Given the description of an element on the screen output the (x, y) to click on. 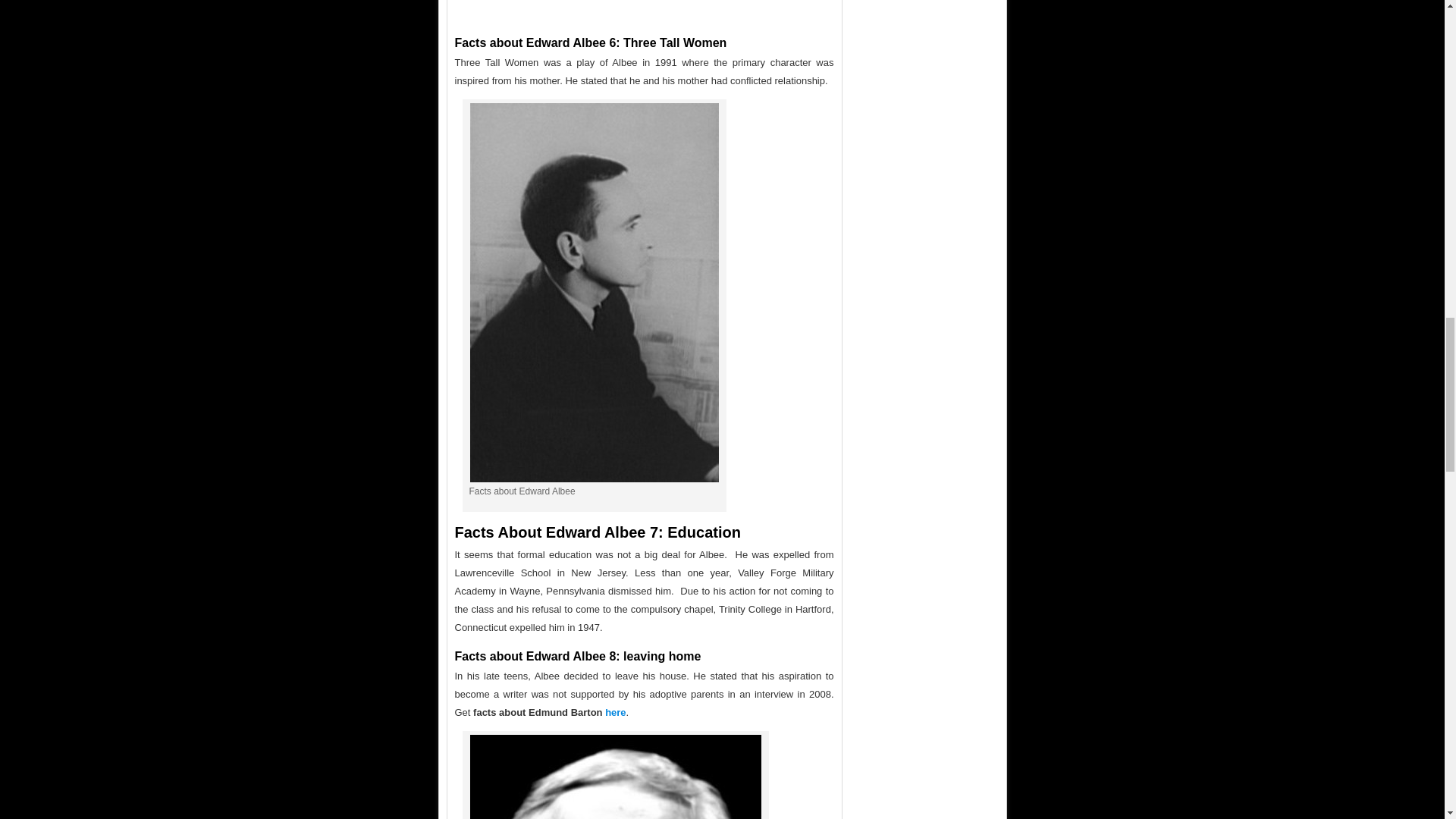
here (615, 712)
